Given the description of an element on the screen output the (x, y) to click on. 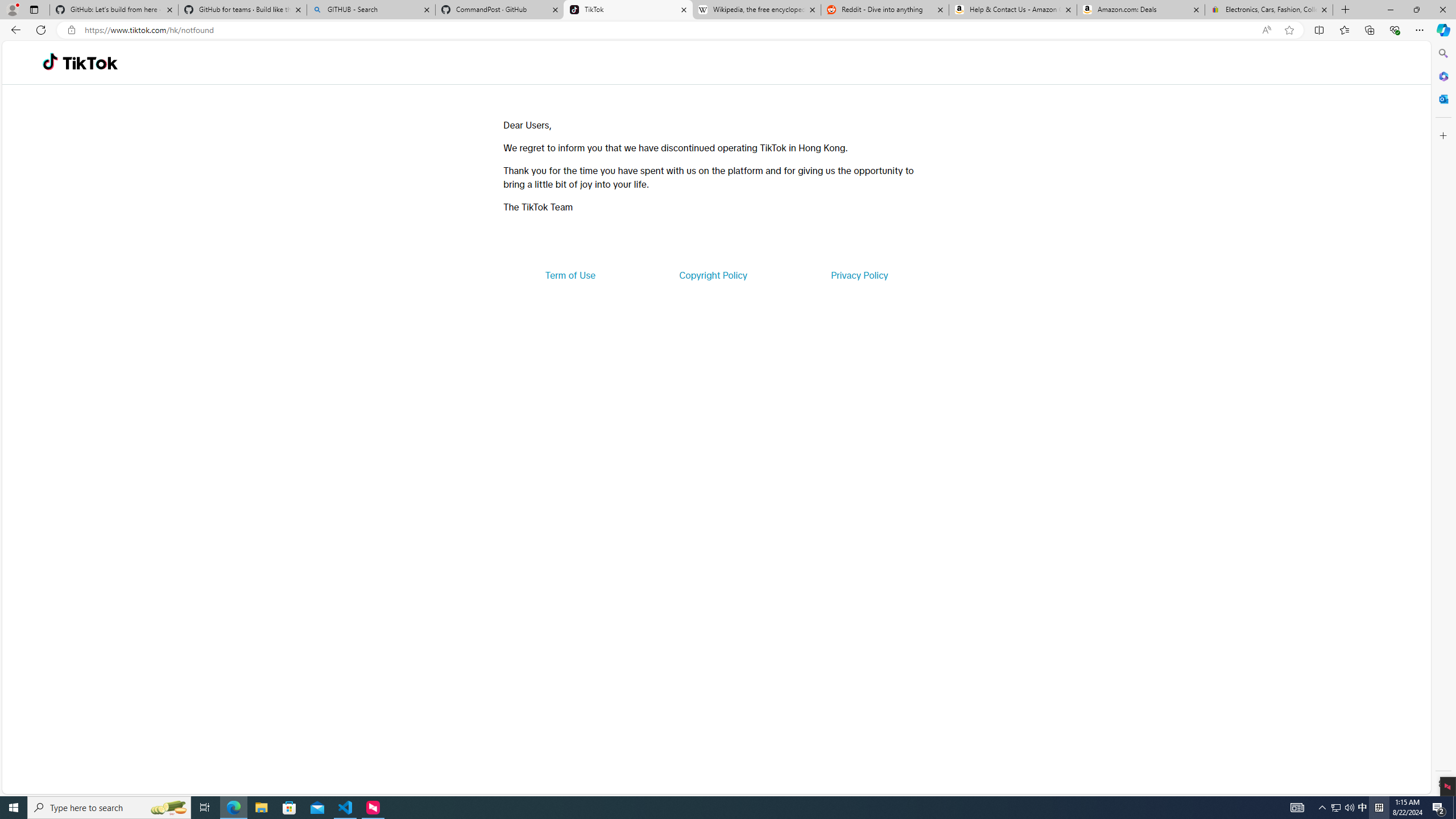
Privacy Policy (858, 274)
Wikipedia, the free encyclopedia (756, 9)
GITHUB - Search (370, 9)
